Given the description of an element on the screen output the (x, y) to click on. 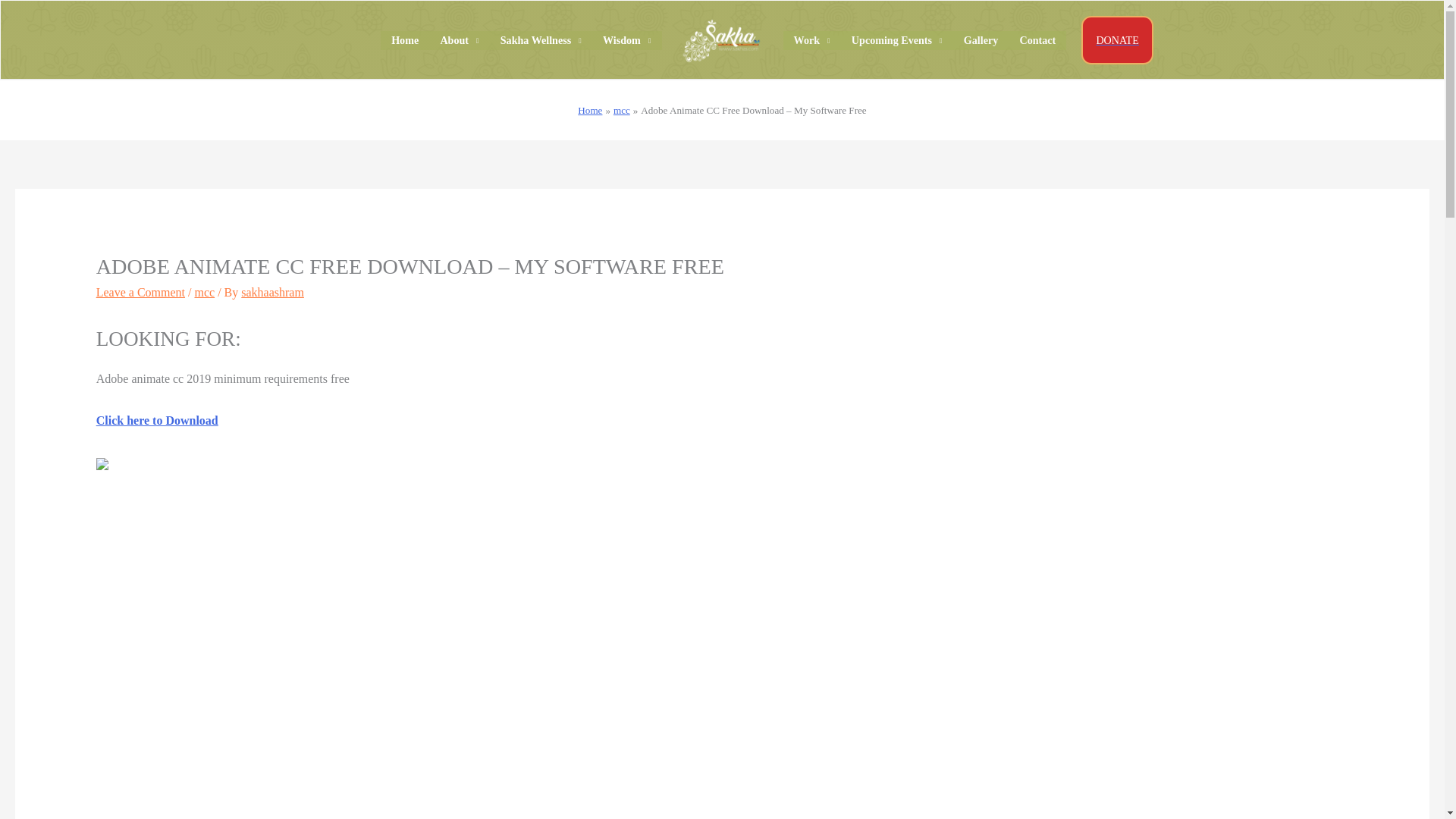
Gallery (981, 40)
About (459, 40)
View all posts by sakhaashram (272, 291)
Contact (1037, 40)
Upcoming Events (897, 40)
Wisdom (627, 40)
DONATE (1117, 39)
Work (811, 40)
Home (404, 40)
Sakha Wellness (540, 40)
